Given the description of an element on the screen output the (x, y) to click on. 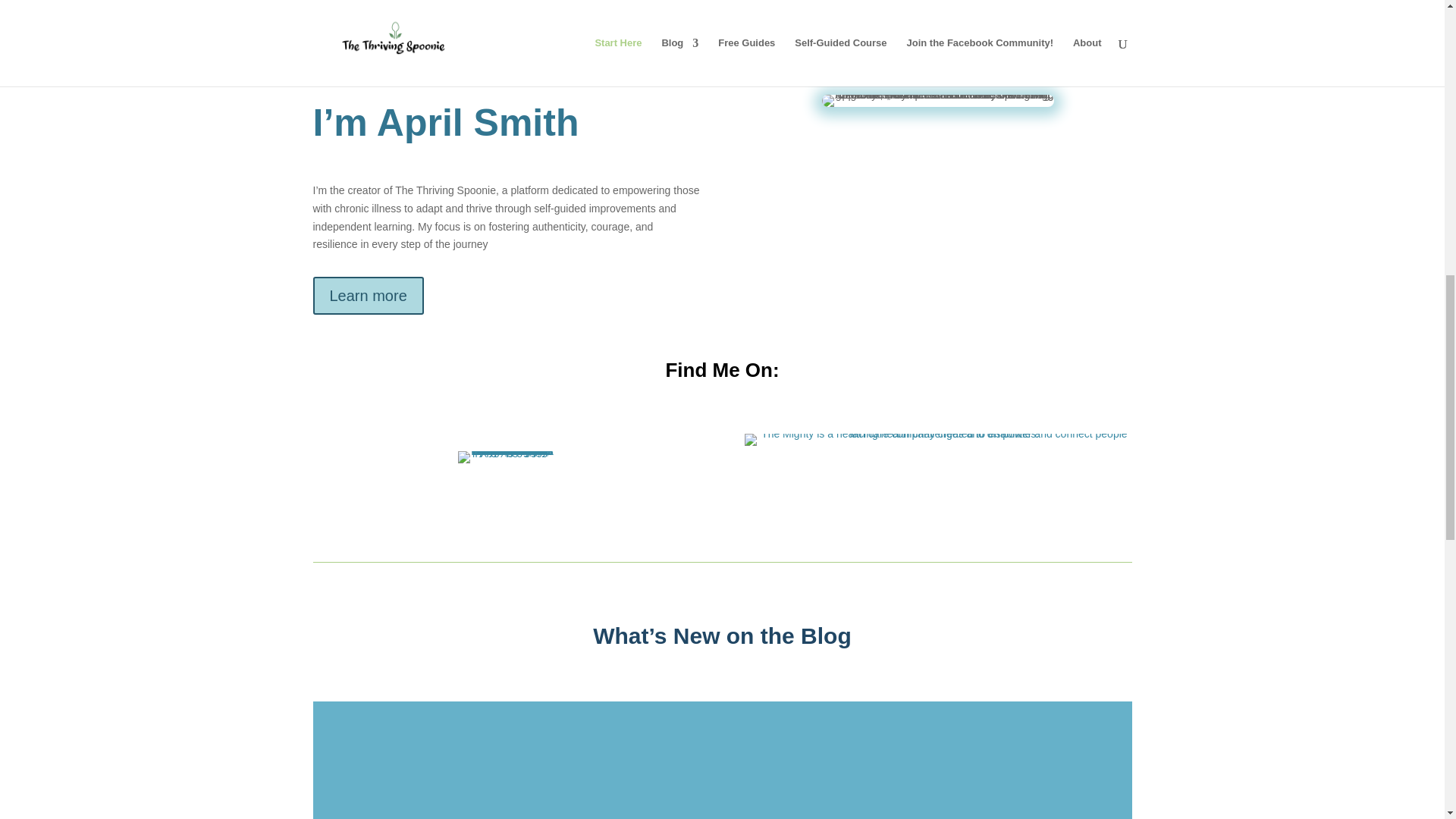
Learn more (368, 295)
